Given the description of an element on the screen output the (x, y) to click on. 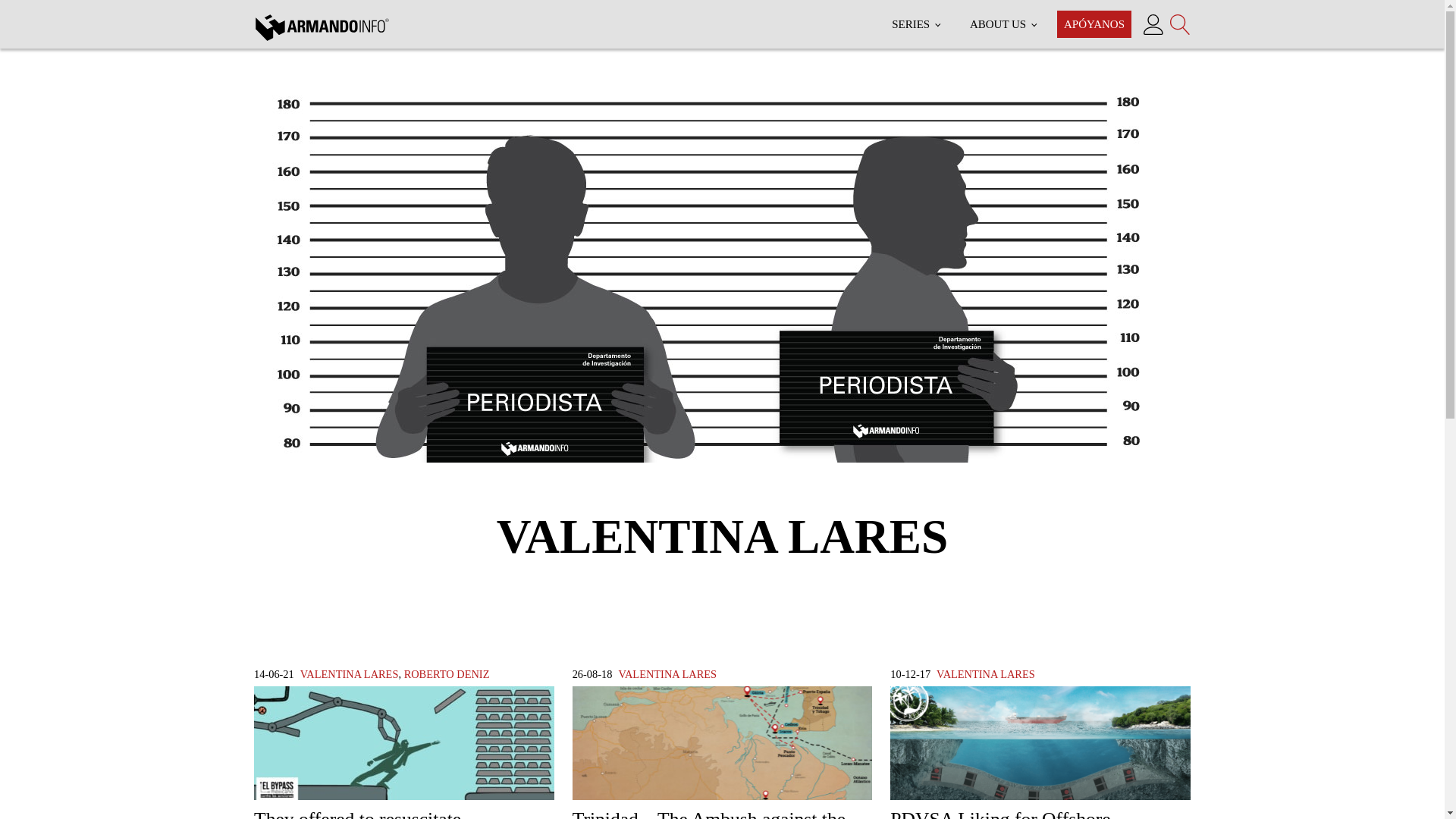
ABOUT US (1003, 24)
VALENTINA LARES (666, 674)
VALENTINA LARES (985, 674)
PDVSA Liking for Offshore Companies (1040, 752)
ROBERTO DENIZ (446, 674)
SERIES (915, 24)
VALENTINA LARES (348, 674)
